Given the description of an element on the screen output the (x, y) to click on. 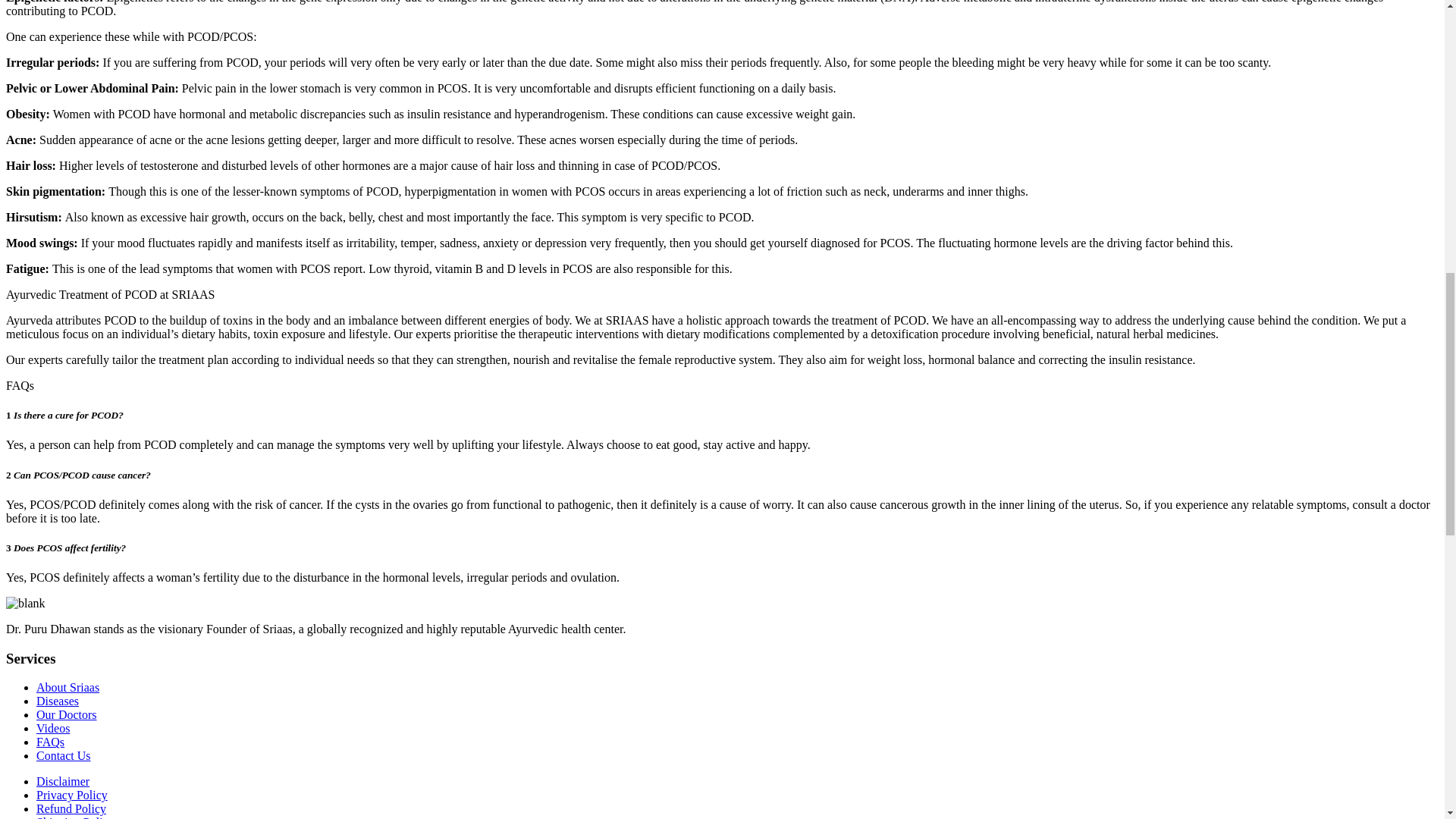
Videos (52, 727)
Contact Us (63, 755)
Diseases (57, 700)
Refund Policy (71, 808)
FAQs (50, 741)
About Sriaas (67, 686)
Shipping Policy (75, 817)
Privacy Policy (71, 794)
Disclaimer (62, 780)
Our Doctors (66, 714)
